Given the description of an element on the screen output the (x, y) to click on. 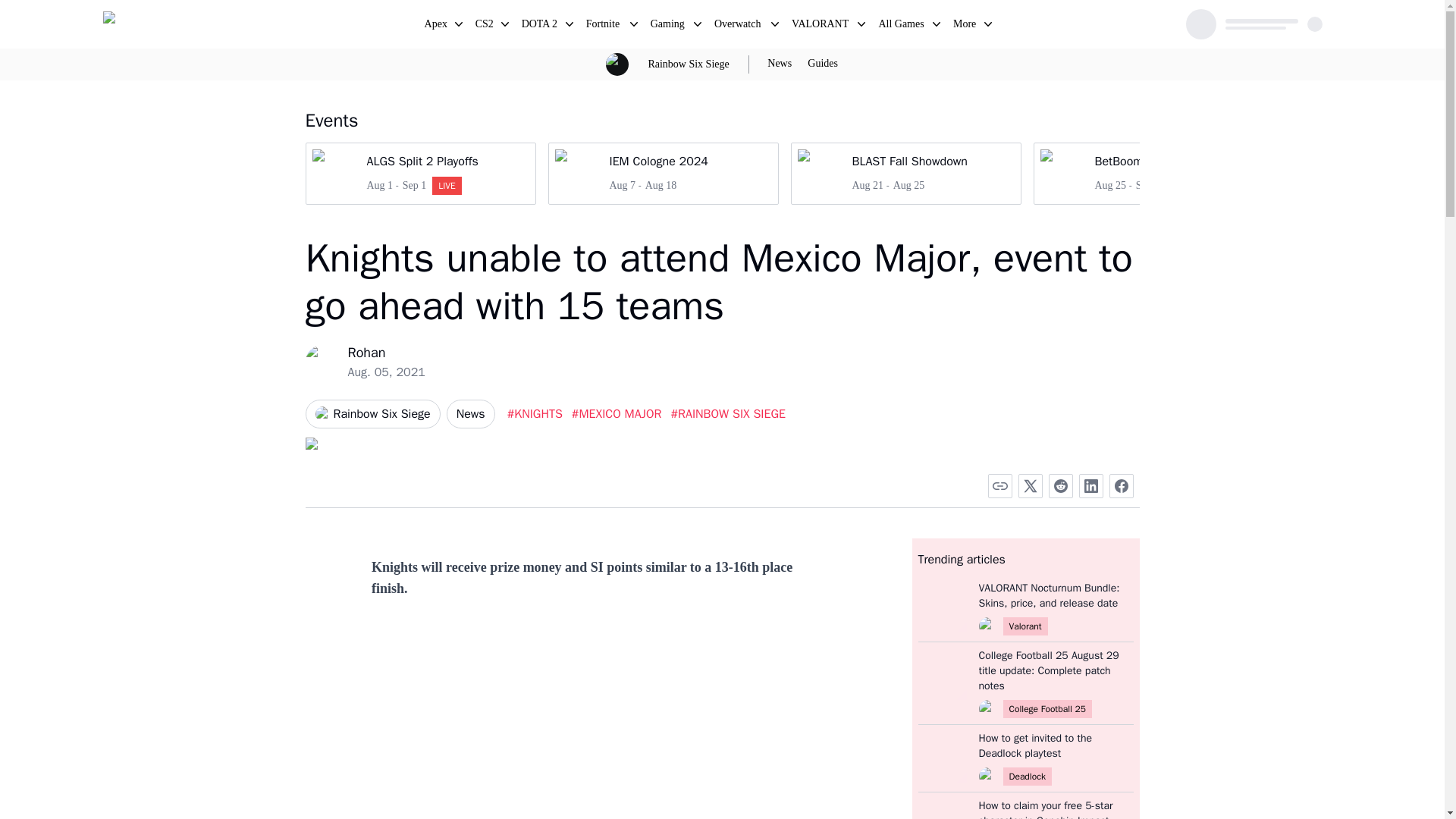
Fortnite (604, 25)
Apex (436, 25)
VALORANT (821, 25)
VALORANT (821, 25)
Rainbow Six Siege (371, 413)
Guides (822, 64)
Rainbow Six Siege (662, 173)
CS2 (688, 64)
All Games (485, 25)
